Given the description of an element on the screen output the (x, y) to click on. 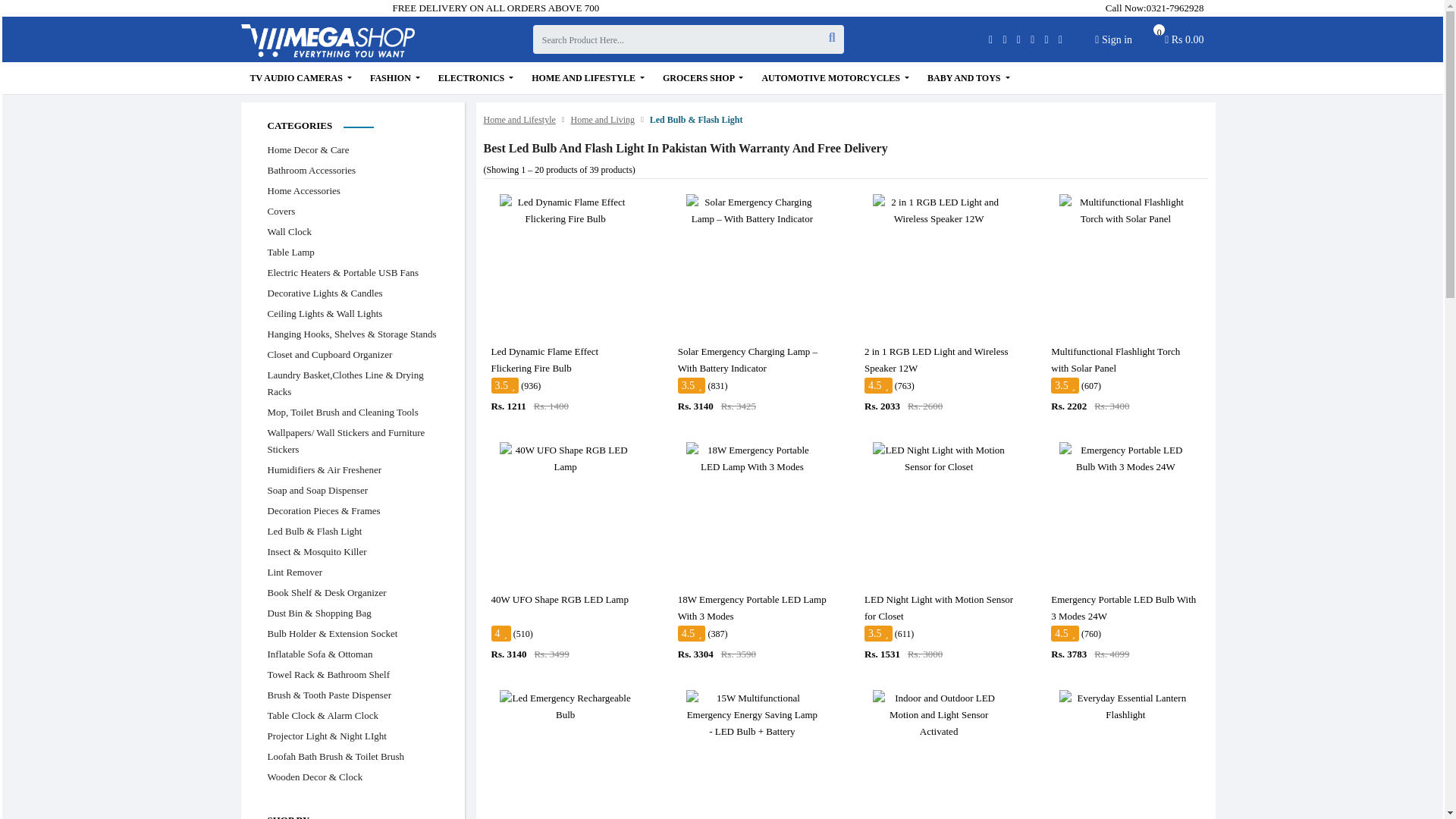
Emergency Portable LED Bulb With 3 Modes 24W (1125, 458)
2 in 1 RGB LED Light and Wireless Speaker 12W (938, 210)
Led Dynamic Flame Effect Flickering Fire Bulb (565, 210)
Multifunctional Flashlight Torch with Solar Panel (1125, 210)
40W UFO Shape RGB LED Lamp (565, 458)
Sign in (1184, 42)
TV AUDIO CAMERAS (1113, 39)
0321-7962928 (301, 78)
Led Emergency Rechargeable Bulb (1175, 7)
